Given the description of an element on the screen output the (x, y) to click on. 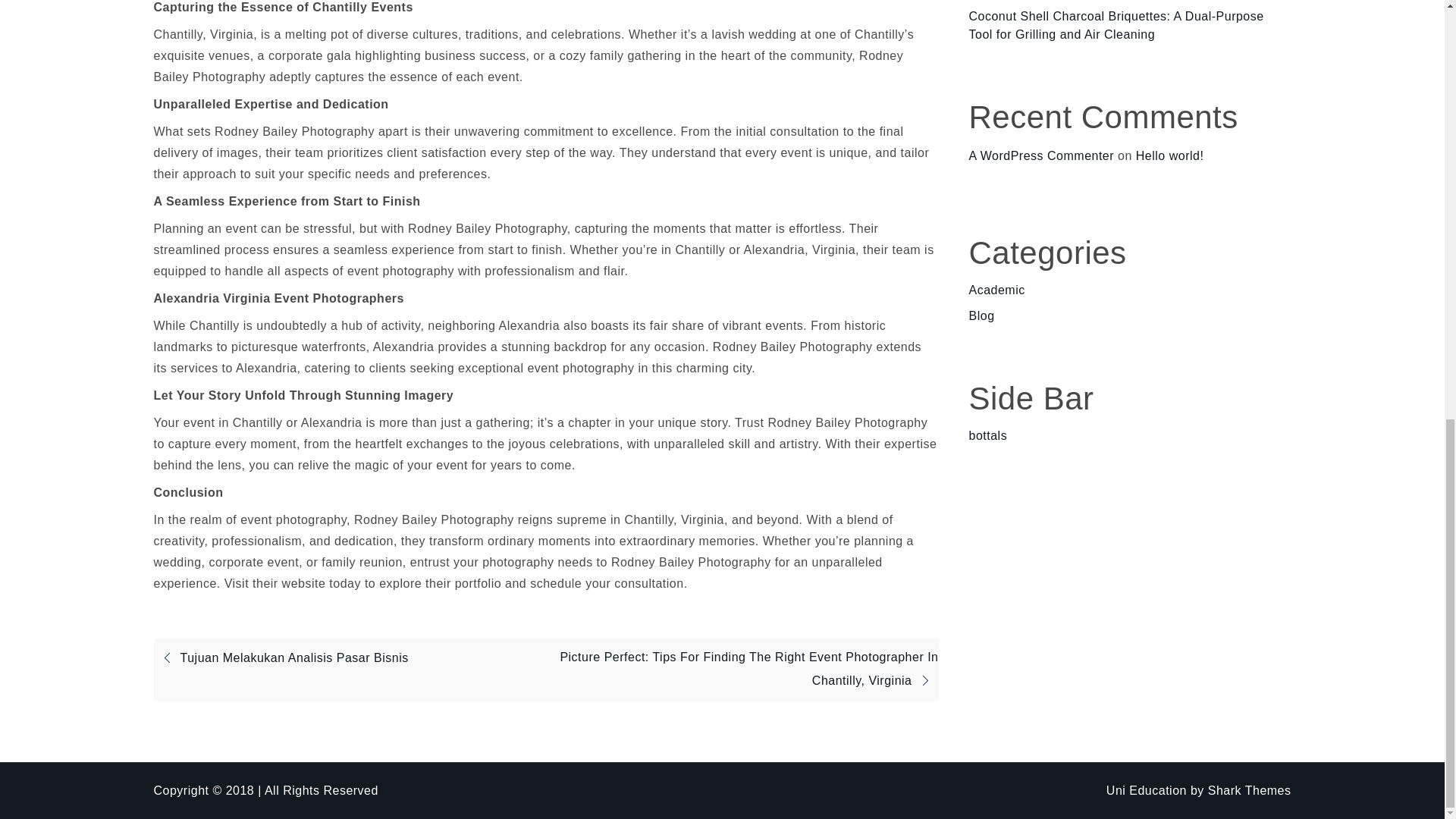
A WordPress Commenter (1042, 155)
Blog (981, 315)
Tujuan Melakukan Analisis Pasar Bisnis (279, 657)
bottals (988, 435)
Academic (997, 289)
Hello world! (1169, 155)
Shark Themes (1249, 789)
